Given the description of an element on the screen output the (x, y) to click on. 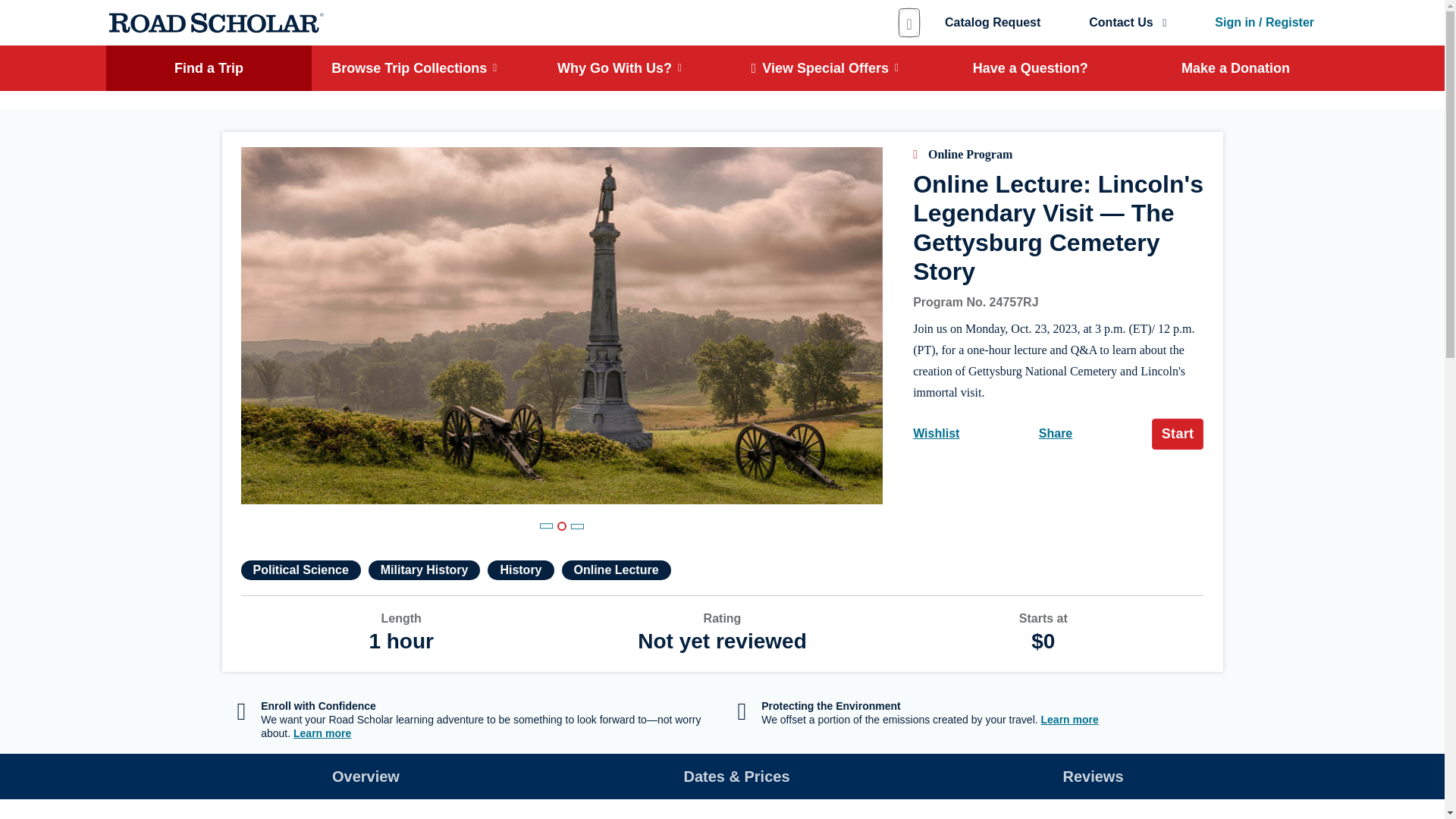
Browse Trip Collections (413, 67)
Find a Trip (208, 67)
